Given the description of an element on the screen output the (x, y) to click on. 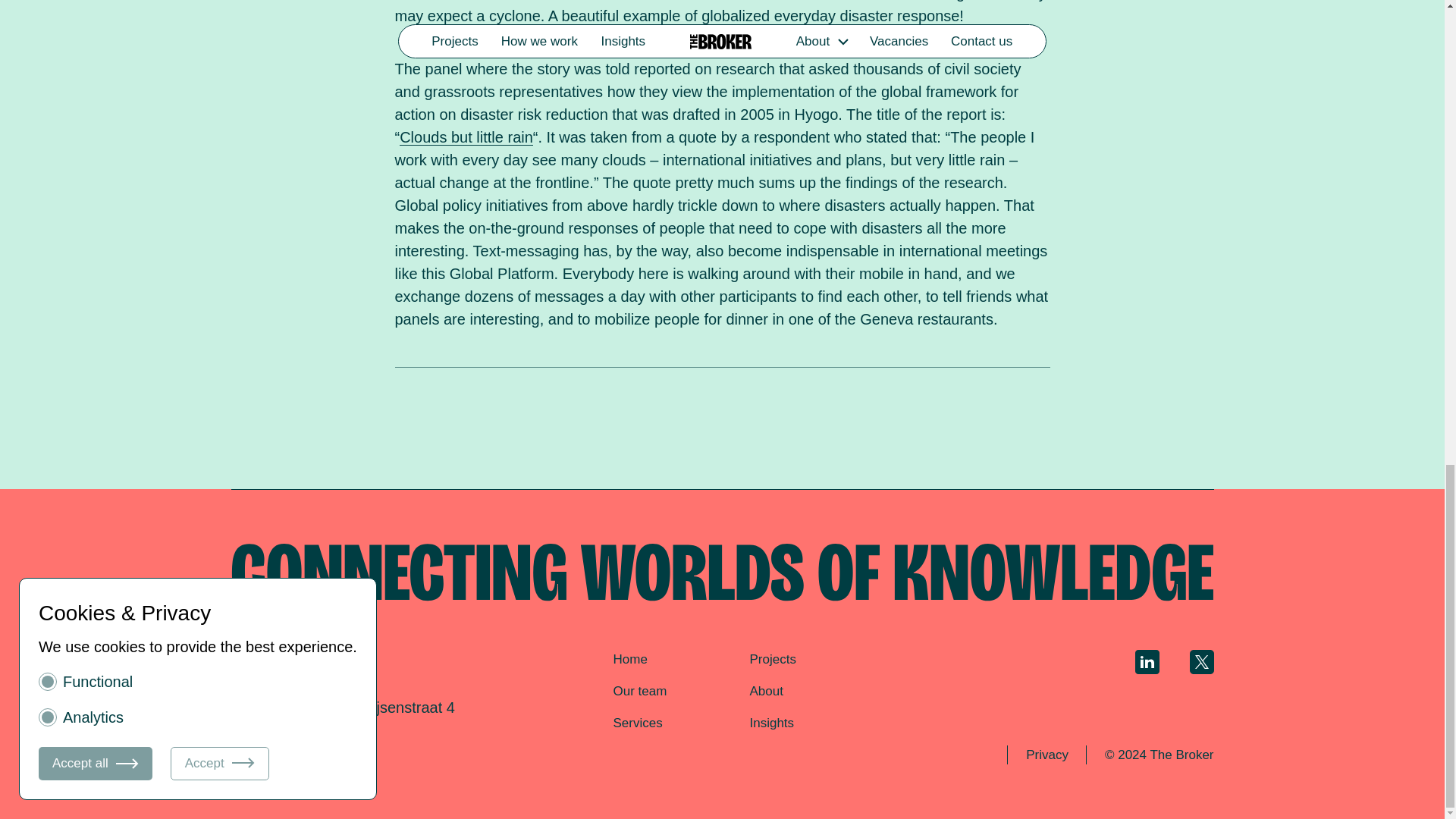
About (766, 690)
Privacy (1046, 754)
Insights (771, 722)
Clouds but little rain (465, 136)
Services (637, 722)
Home (629, 658)
global framework for action on disaster risk reduction (705, 102)
Projects (771, 658)
Our team (639, 690)
